Given the description of an element on the screen output the (x, y) to click on. 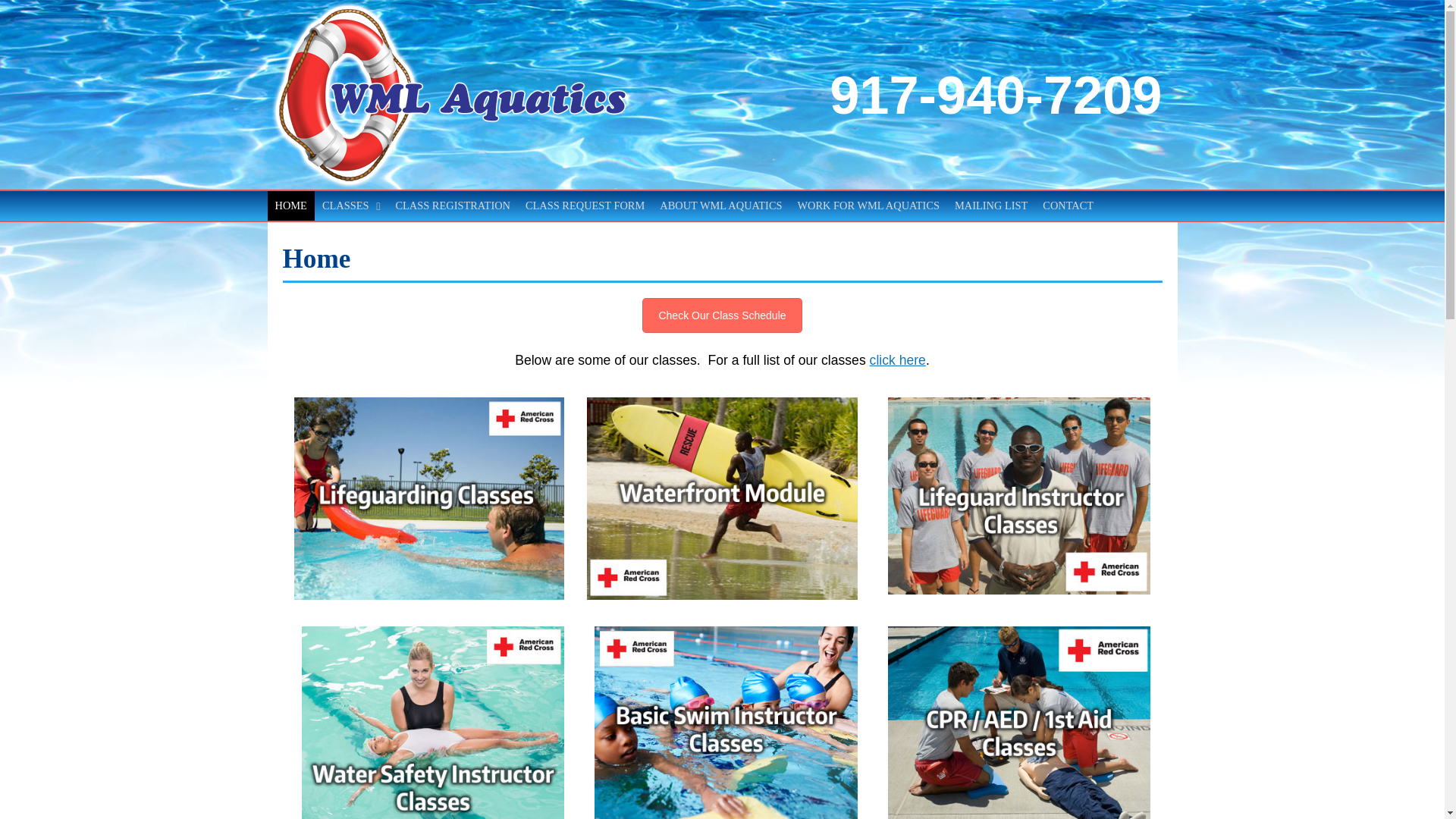
CONTACT (1067, 205)
Check Our Class Schedule (722, 315)
MAILING LIST (991, 205)
click here (897, 359)
WORK FOR WML AQUATICS (868, 205)
HOME (290, 205)
CLASSES (351, 205)
CLASS REGISTRATION (452, 205)
917-940-7209 (995, 95)
ABOUT WML AQUATICS (720, 205)
CLASS REQUEST FORM (585, 205)
